Given the description of an element on the screen output the (x, y) to click on. 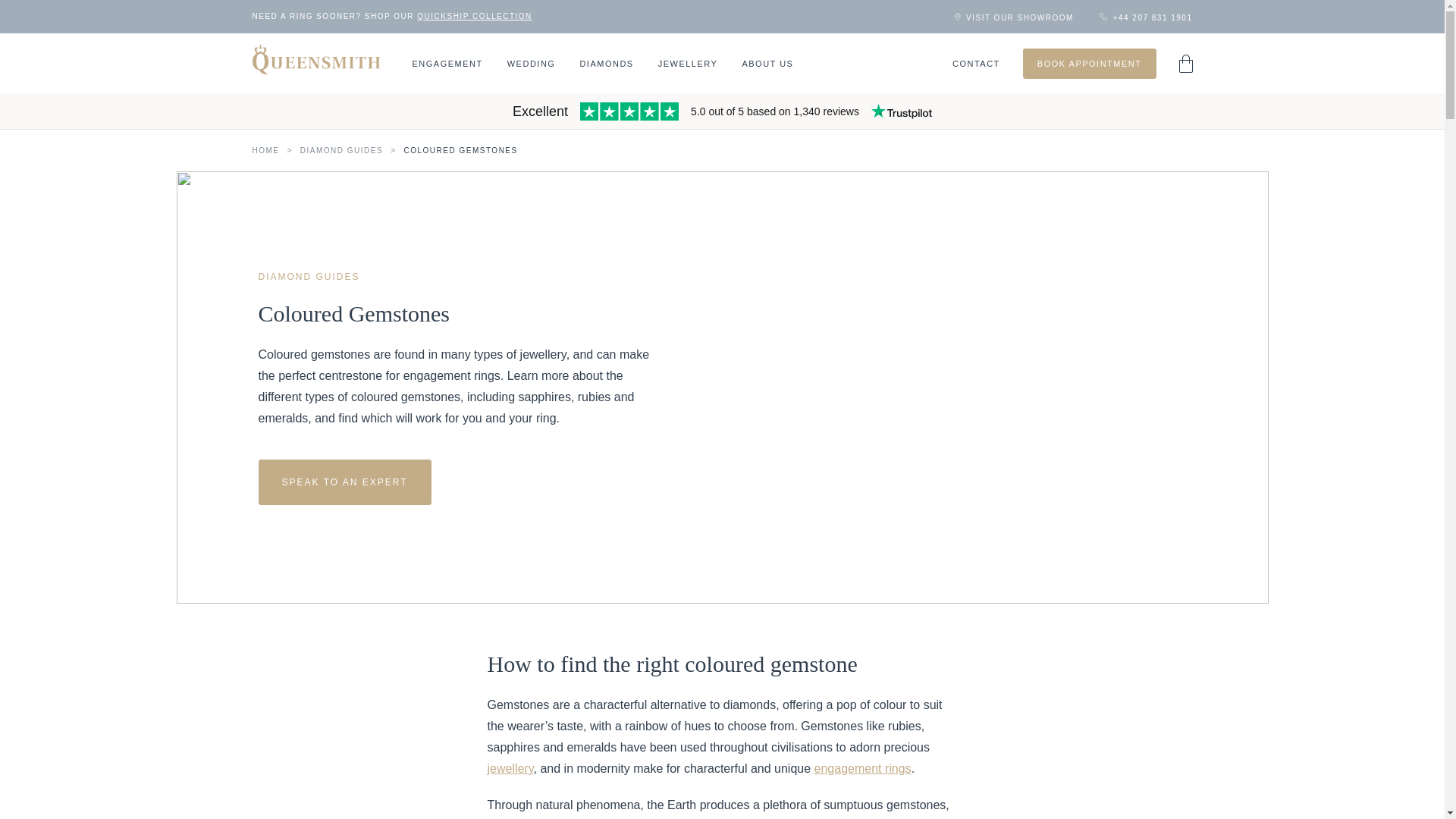
NEED A RING SOONER? SHOP OUR QUICKSHIP COLLECTION (391, 16)
ENGAGEMENT (447, 63)
WEDDING (531, 63)
Queensmith (315, 60)
VISIT OUR SHOWROOM (1014, 17)
Customer reviews powered by Trustpilot (721, 112)
